Given the description of an element on the screen output the (x, y) to click on. 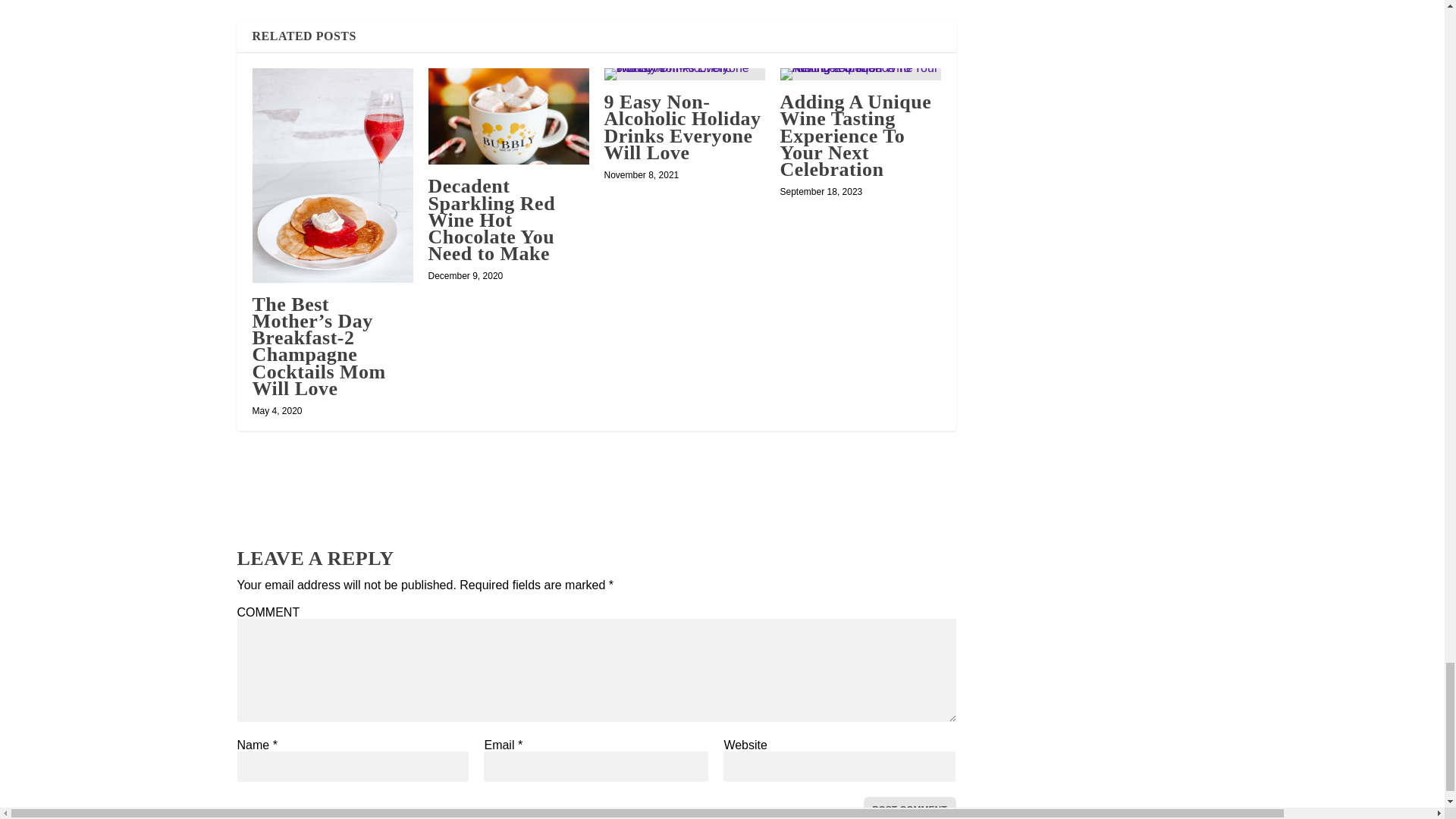
Post Comment (909, 807)
